Given the description of an element on the screen output the (x, y) to click on. 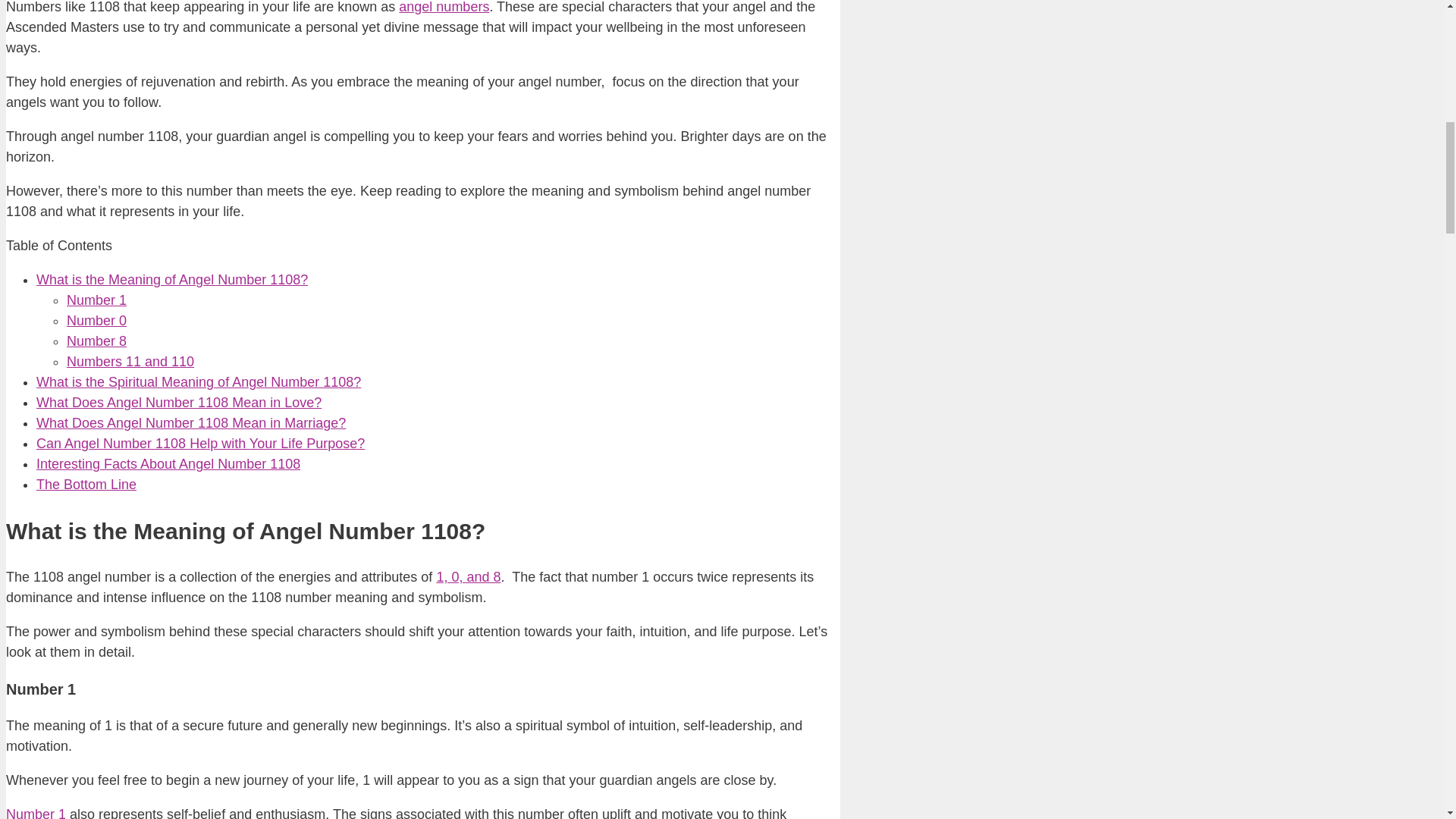
What Does Angel Number 1108 Mean in Love? (178, 402)
What is the Spiritual Meaning of Angel Number 1108? (198, 381)
Number 0 (96, 320)
angel numbers (443, 7)
What Does Angel Number 1108 Mean in Marriage? (191, 422)
Number 1 (35, 812)
Number 8 (96, 340)
The Bottom Line (86, 484)
Interesting Facts About Angel Number 1108 (167, 463)
What is the Meaning of Angel Number 1108? (171, 279)
1, 0, and 8 (467, 576)
Number 1 (96, 299)
Can Angel Number 1108 Help with Your Life Purpose? (200, 443)
Numbers 11 and 110 (129, 361)
